Given the description of an element on the screen output the (x, y) to click on. 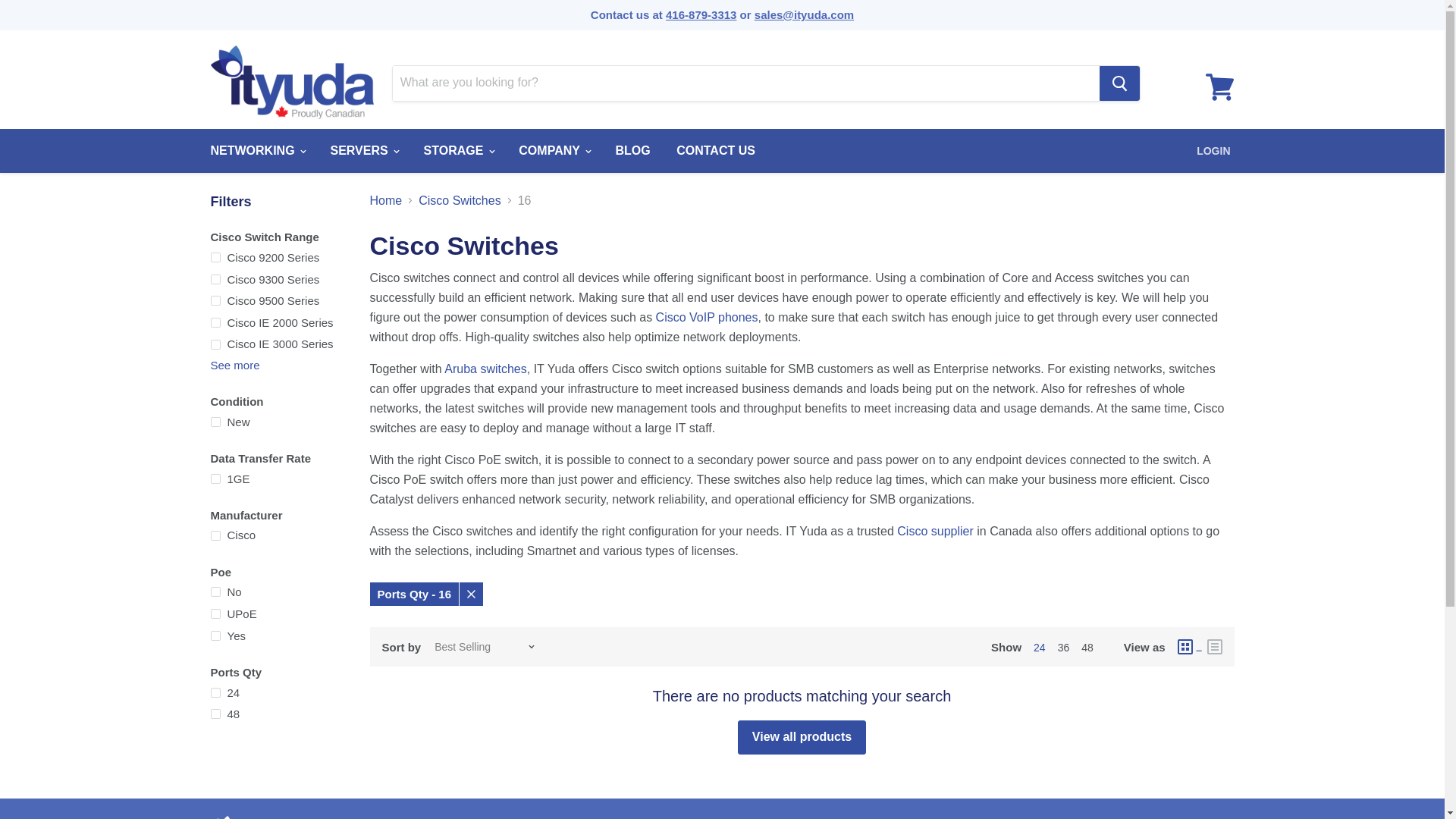
SERVERS (363, 151)
NETWORKING (256, 151)
Aruba Switches (485, 368)
IT Yuda (264, 816)
View cart (1219, 86)
COMPANY (552, 151)
416-879-3313 (700, 14)
STORAGE (457, 151)
